Given the description of an element on the screen output the (x, y) to click on. 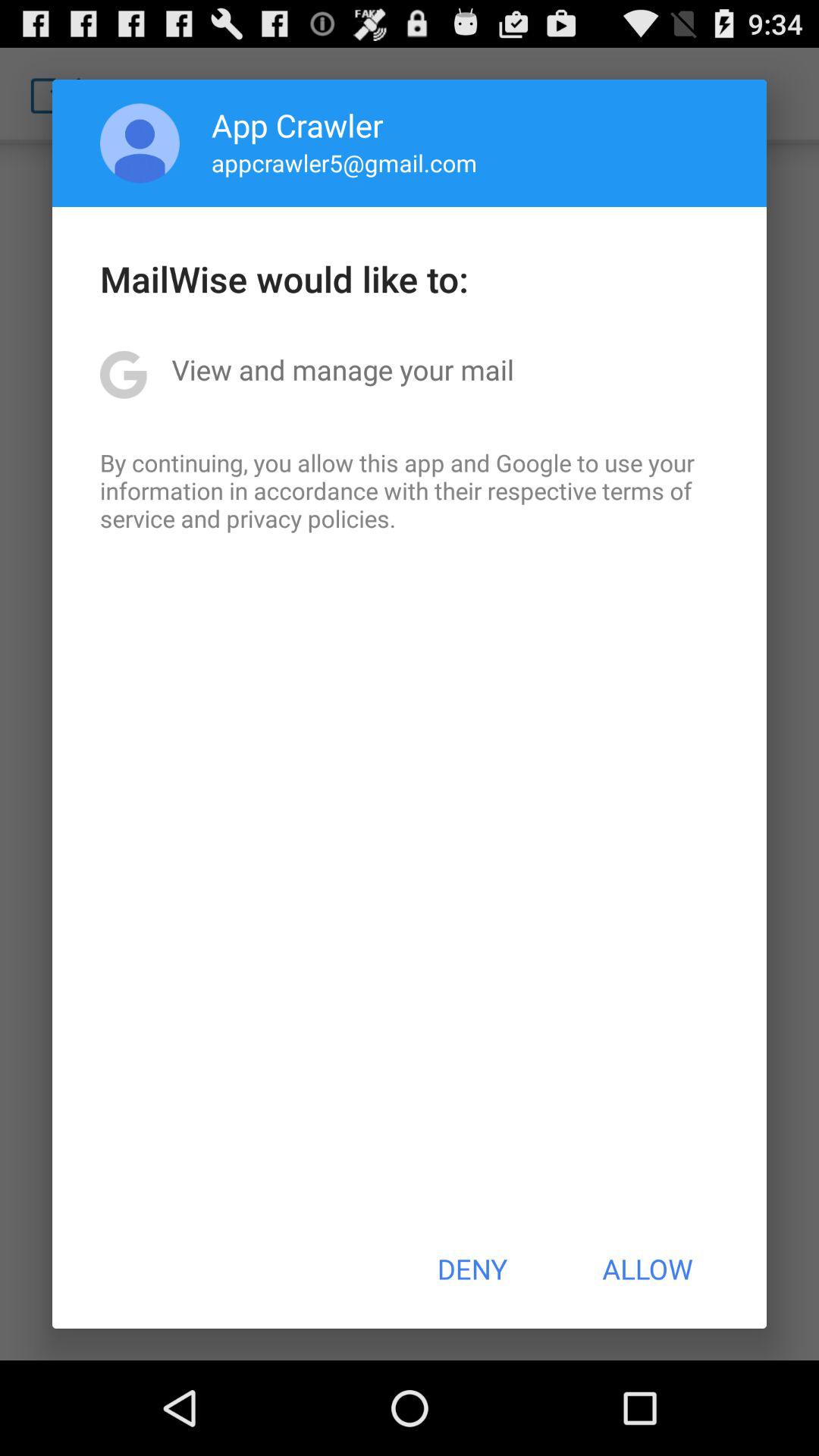
press app above appcrawler5@gmail.com icon (297, 124)
